Given the description of an element on the screen output the (x, y) to click on. 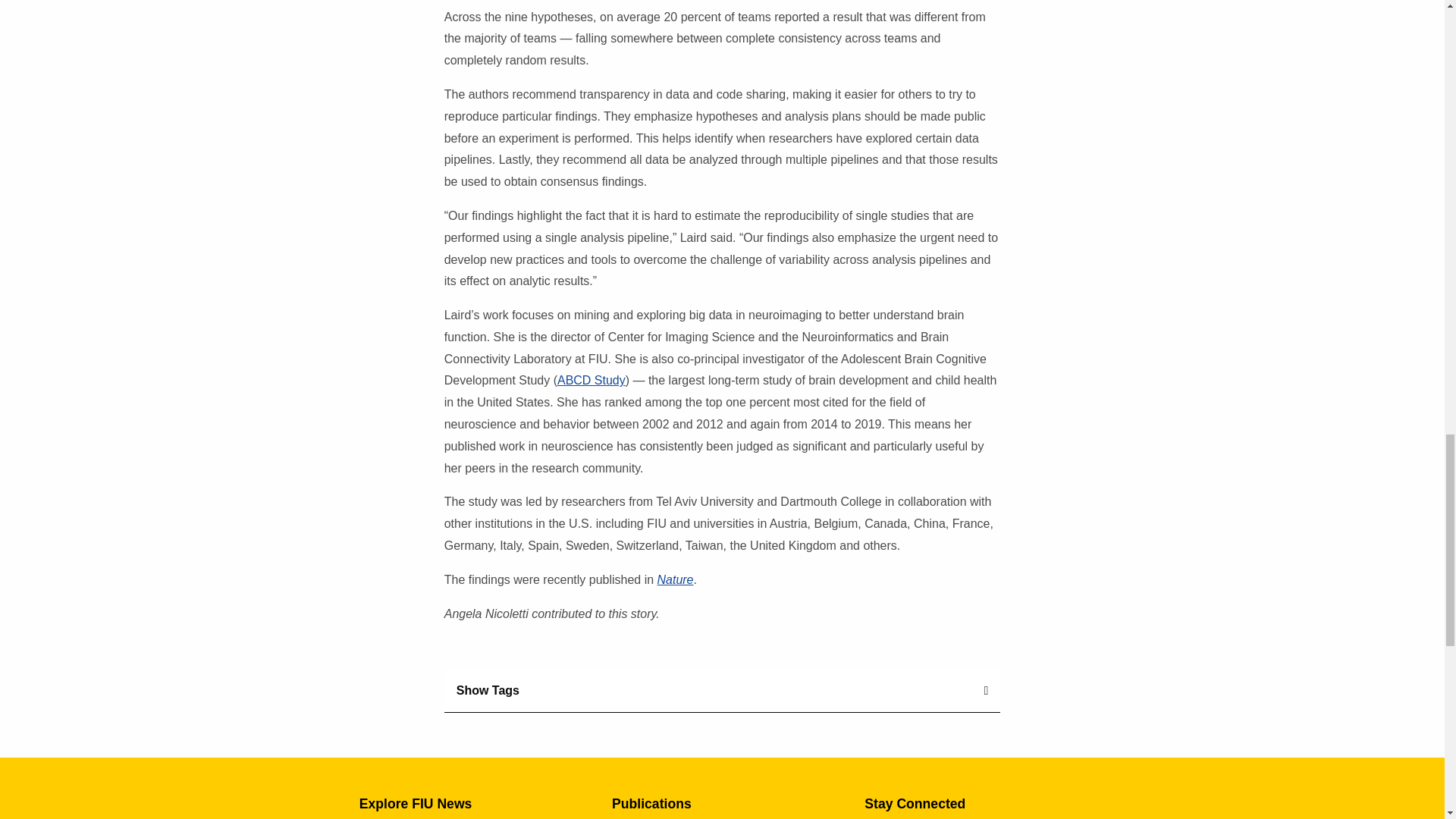
ABCD Study (591, 379)
Show Tags (722, 690)
Nature (676, 579)
